Given the description of an element on the screen output the (x, y) to click on. 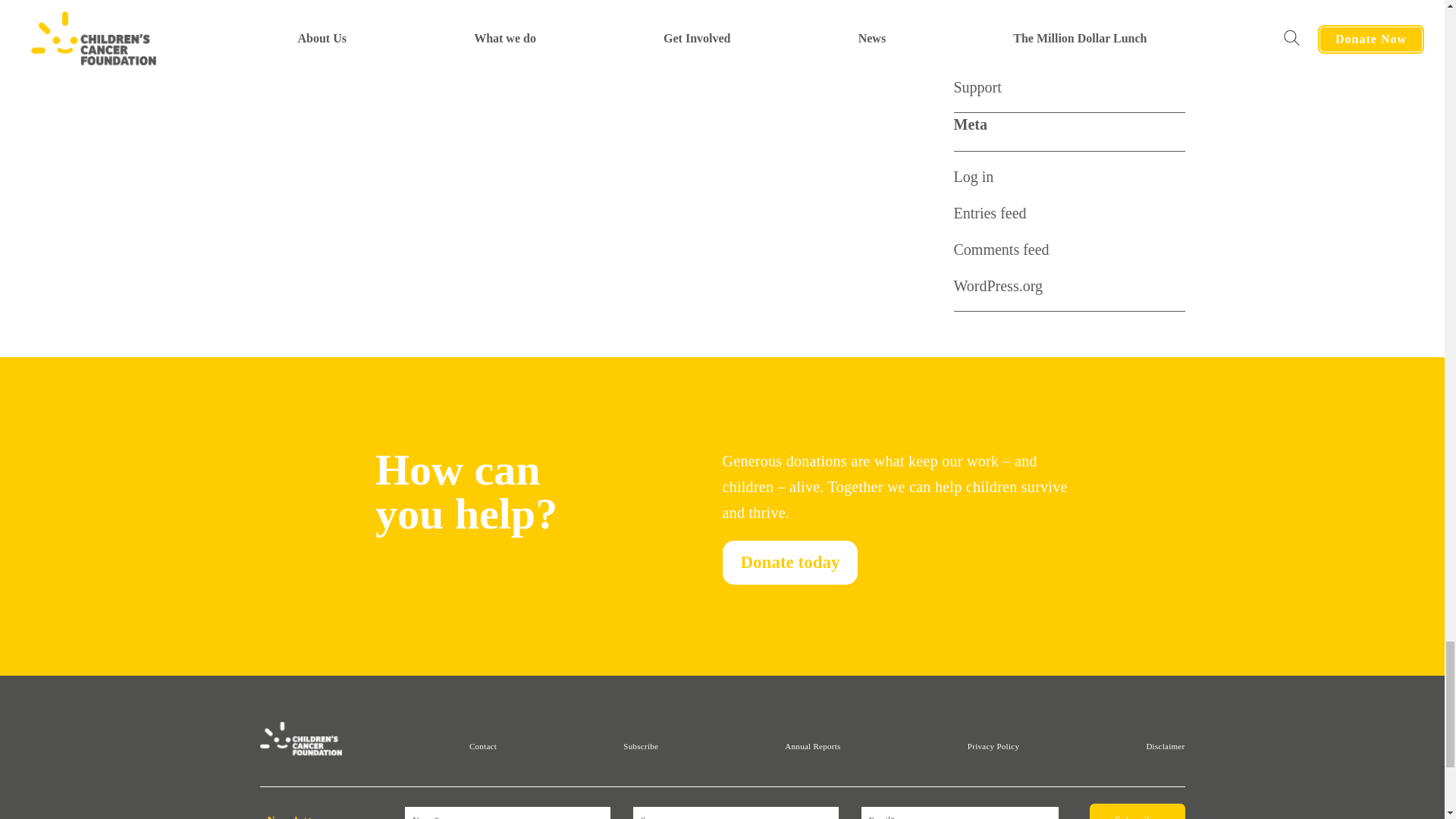
Subscribe (1137, 811)
